Given the description of an element on the screen output the (x, y) to click on. 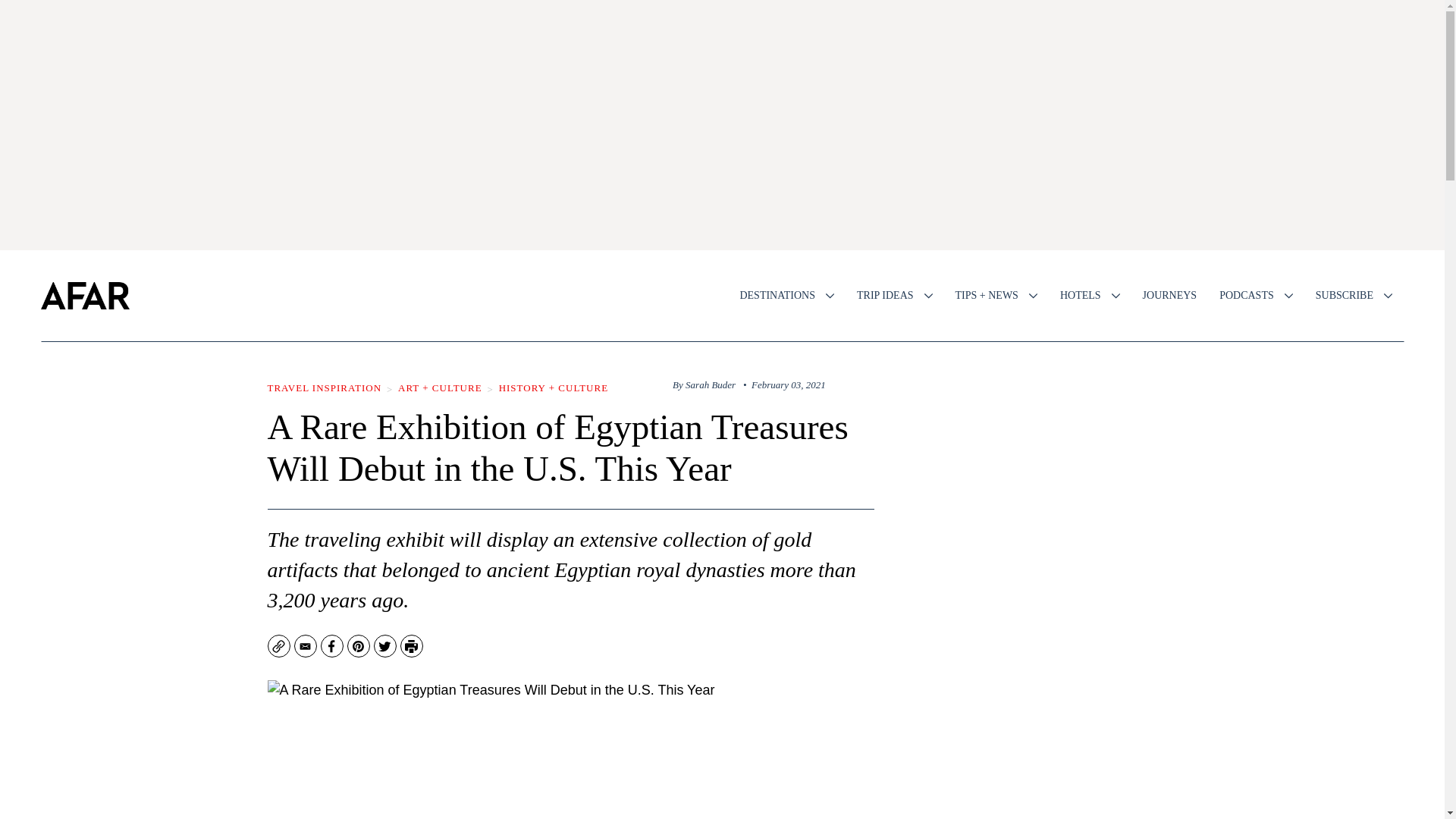
3rd party ad content (1055, 749)
